Given the description of an element on the screen output the (x, y) to click on. 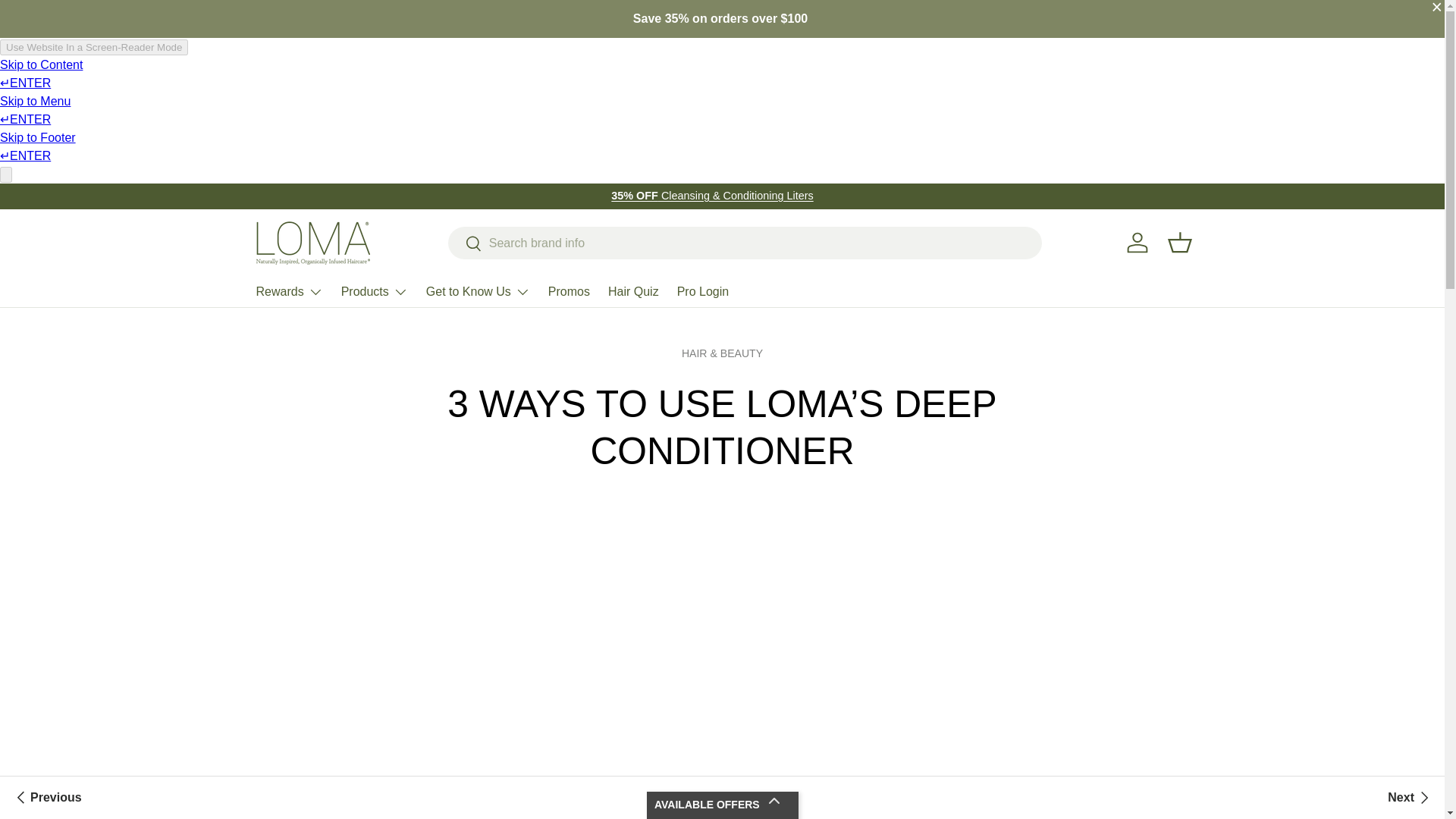
Search (464, 244)
Rewards (289, 291)
Promotions (711, 195)
Log in (1137, 242)
Products (373, 291)
Basket (1179, 242)
Skip to content (68, 21)
Becoming a Happier and Healthier You With Yoga (46, 797)
Get to Know Us (477, 291)
